Given the description of an element on the screen output the (x, y) to click on. 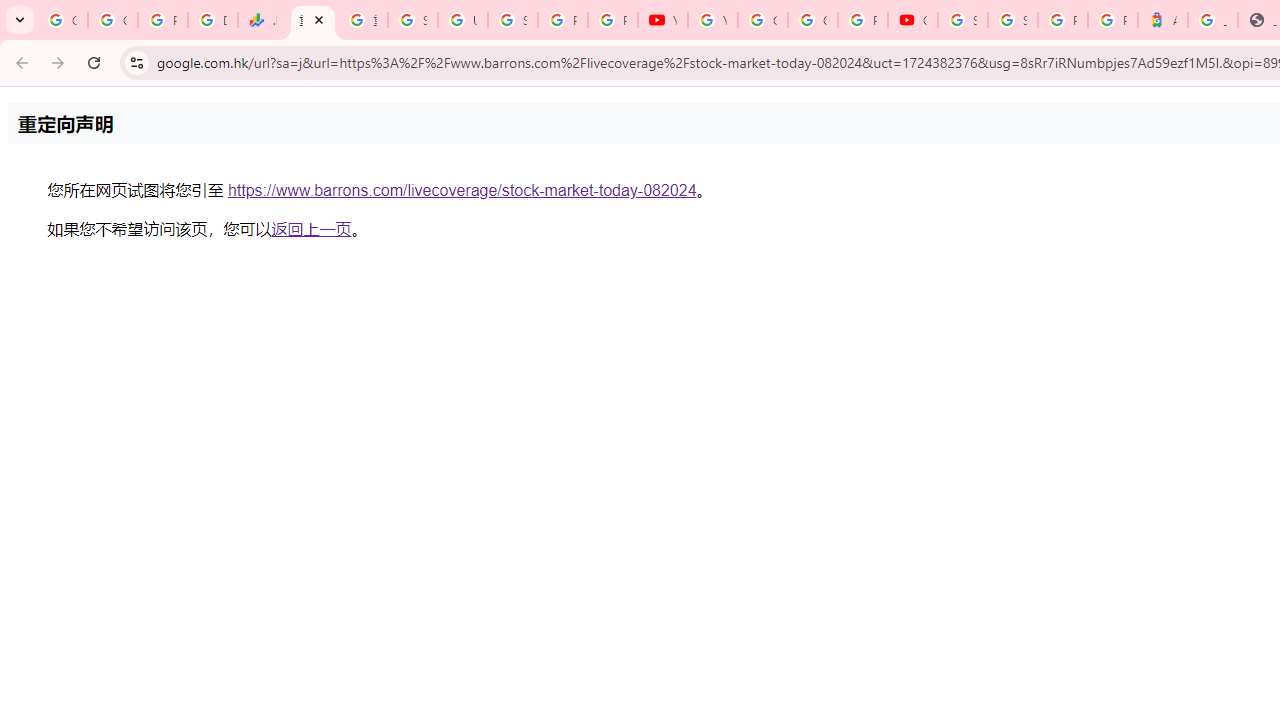
Create your Google Account (813, 20)
YouTube (662, 20)
Atour Hotel - Google hotels (1162, 20)
Privacy Checkup (612, 20)
